Given the description of an element on the screen output the (x, y) to click on. 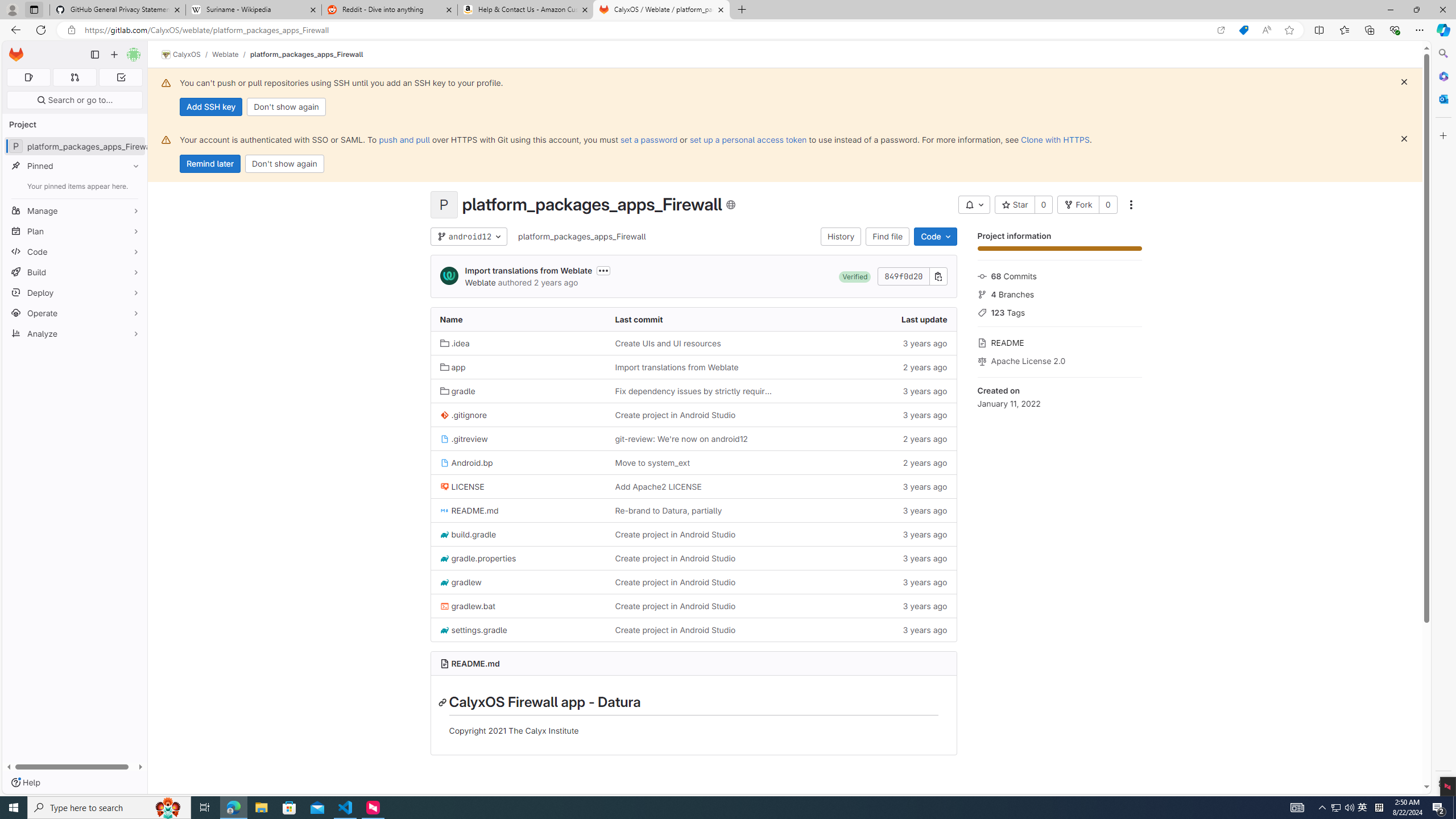
Add SSH key (211, 106)
Create UIs and UI resources (693, 342)
README (1058, 341)
Re-brand to Datura, partially (668, 510)
Verified (854, 276)
Hosted Weblate's avatar (448, 275)
app (452, 367)
4 Branches (1058, 293)
build.gradle (517, 534)
.idea (454, 342)
set up a personal access token (747, 139)
.idea (517, 342)
